Given the description of an element on the screen output the (x, y) to click on. 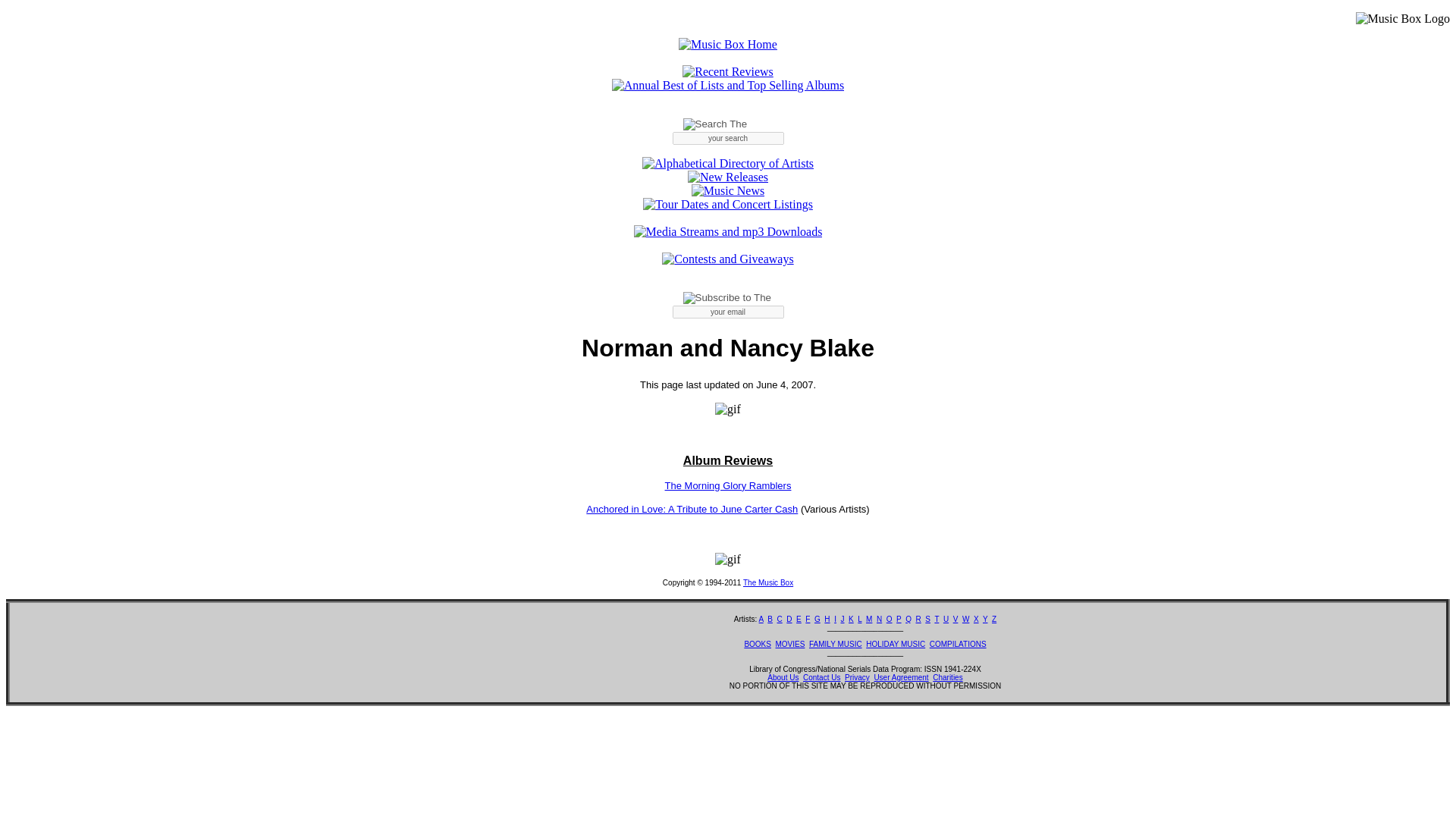
your search (727, 137)
The Morning Glory Ramblers (728, 485)
Anchored in Love: A Tribute to June Carter Cash (691, 509)
BOOKS (757, 643)
The Music Box (767, 582)
your email (727, 311)
MOVIES (790, 643)
